Given the description of an element on the screen output the (x, y) to click on. 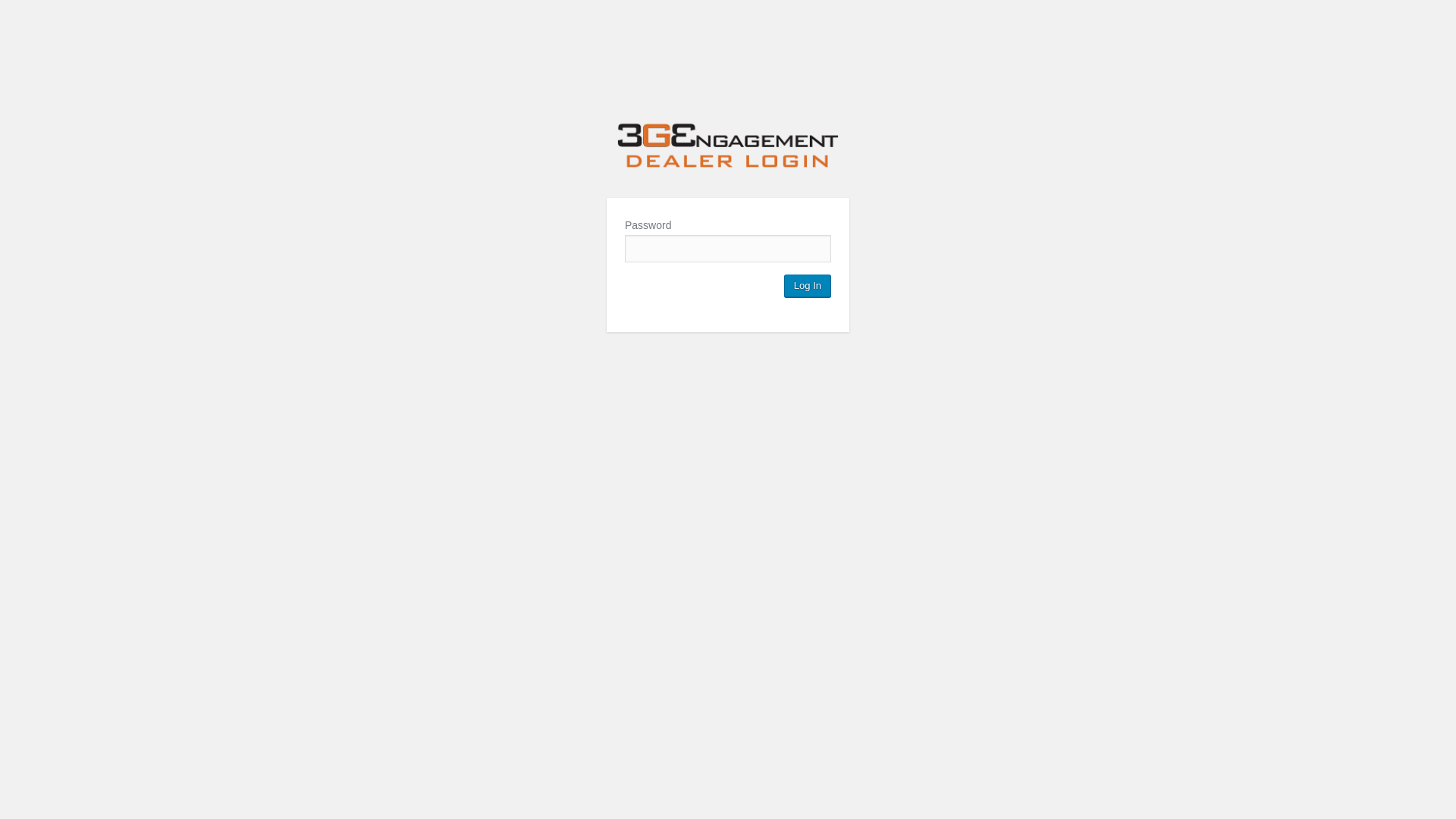
Log In Element type: text (807, 285)
3GEngagement Element type: text (727, 147)
